Given the description of an element on the screen output the (x, y) to click on. 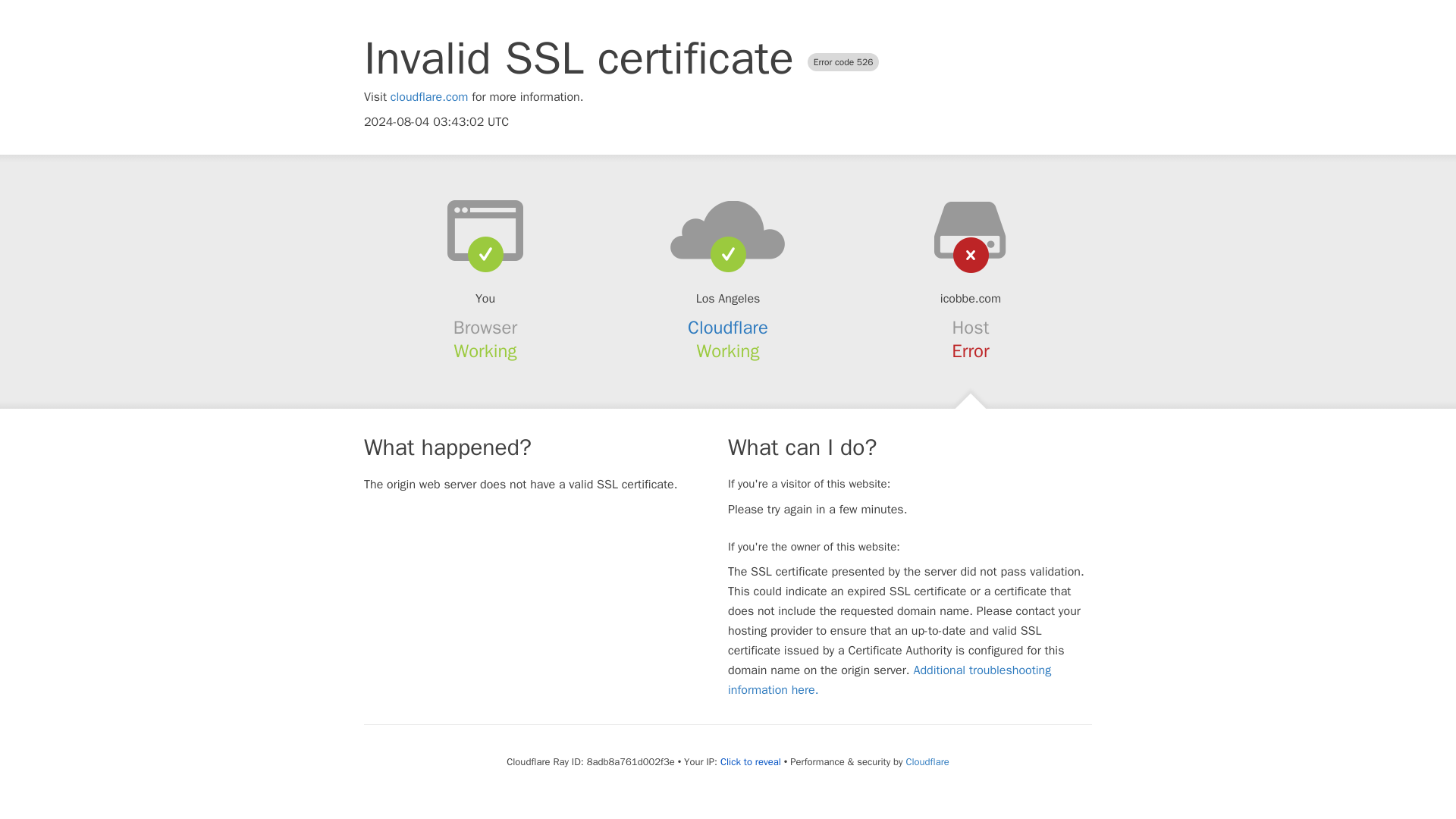
Additional troubleshooting information here. (889, 679)
Cloudflare (927, 761)
Click to reveal (750, 762)
Cloudflare (727, 327)
cloudflare.com (429, 96)
